Given the description of an element on the screen output the (x, y) to click on. 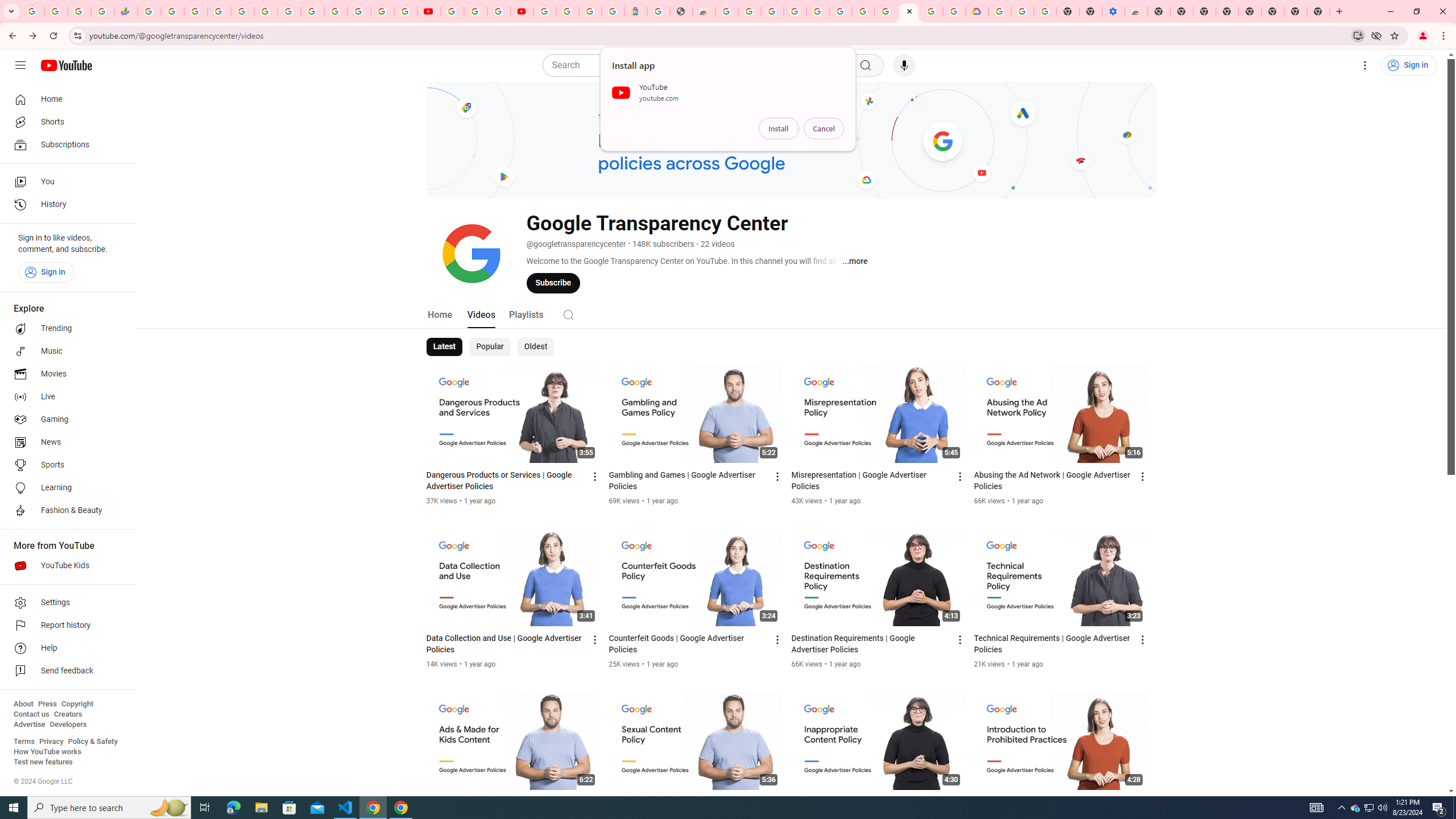
Sign in - Google Accounts (817, 11)
Gaming (64, 419)
Help (64, 648)
YouTube (451, 11)
Sign in - Google Accounts (545, 11)
Popular (489, 346)
Google Workspace Admin Community (32, 11)
Learning (64, 487)
Ad Settings (794, 11)
Privacy Checkup (405, 11)
Subscribe (552, 282)
Create your Google Account (749, 11)
